Given the description of an element on the screen output the (x, y) to click on. 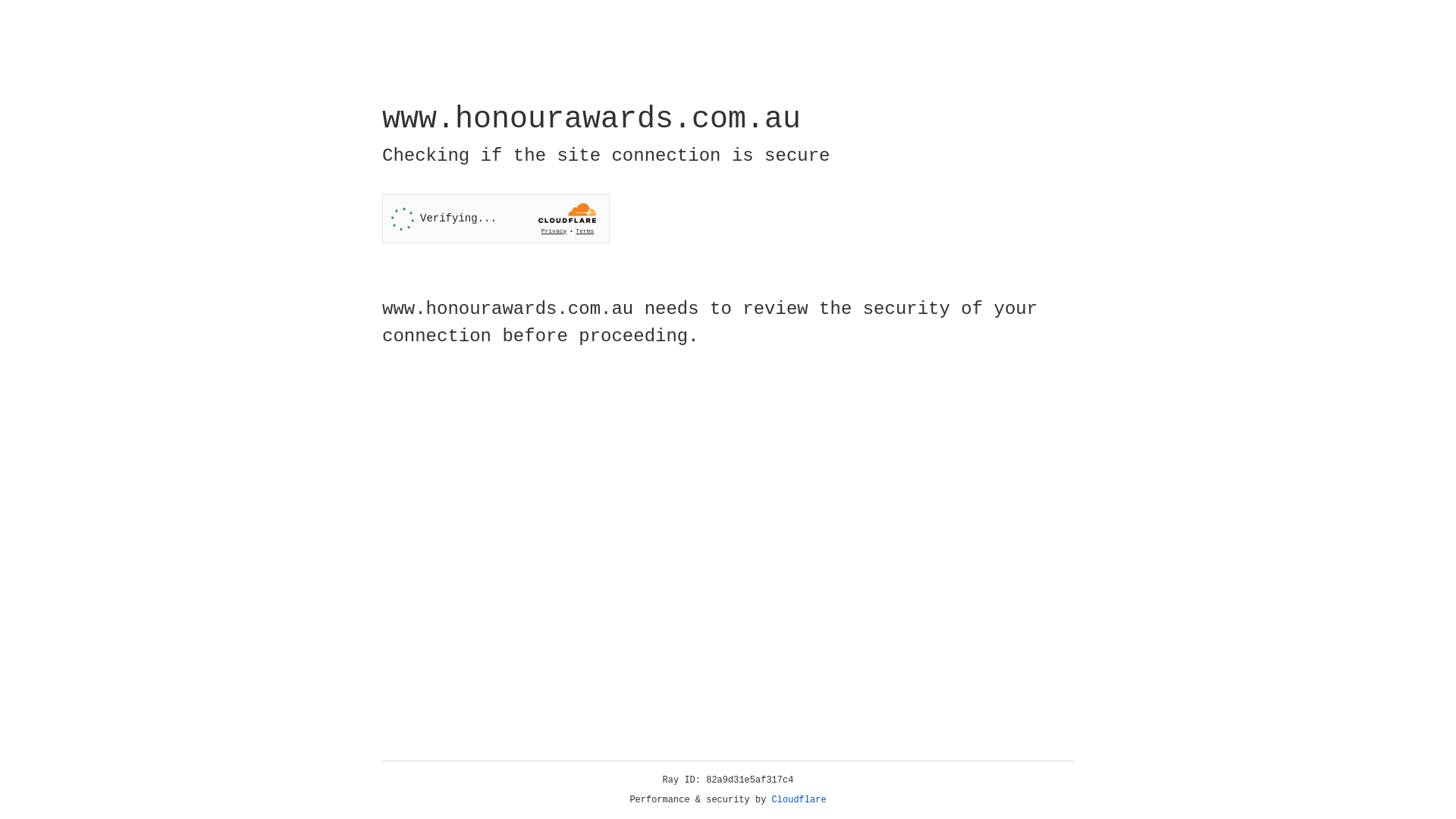
Widget containing a Cloudflare security challenge Element type: hover (495, 218)
Cloudflare Element type: text (798, 799)
